Given the description of an element on the screen output the (x, y) to click on. 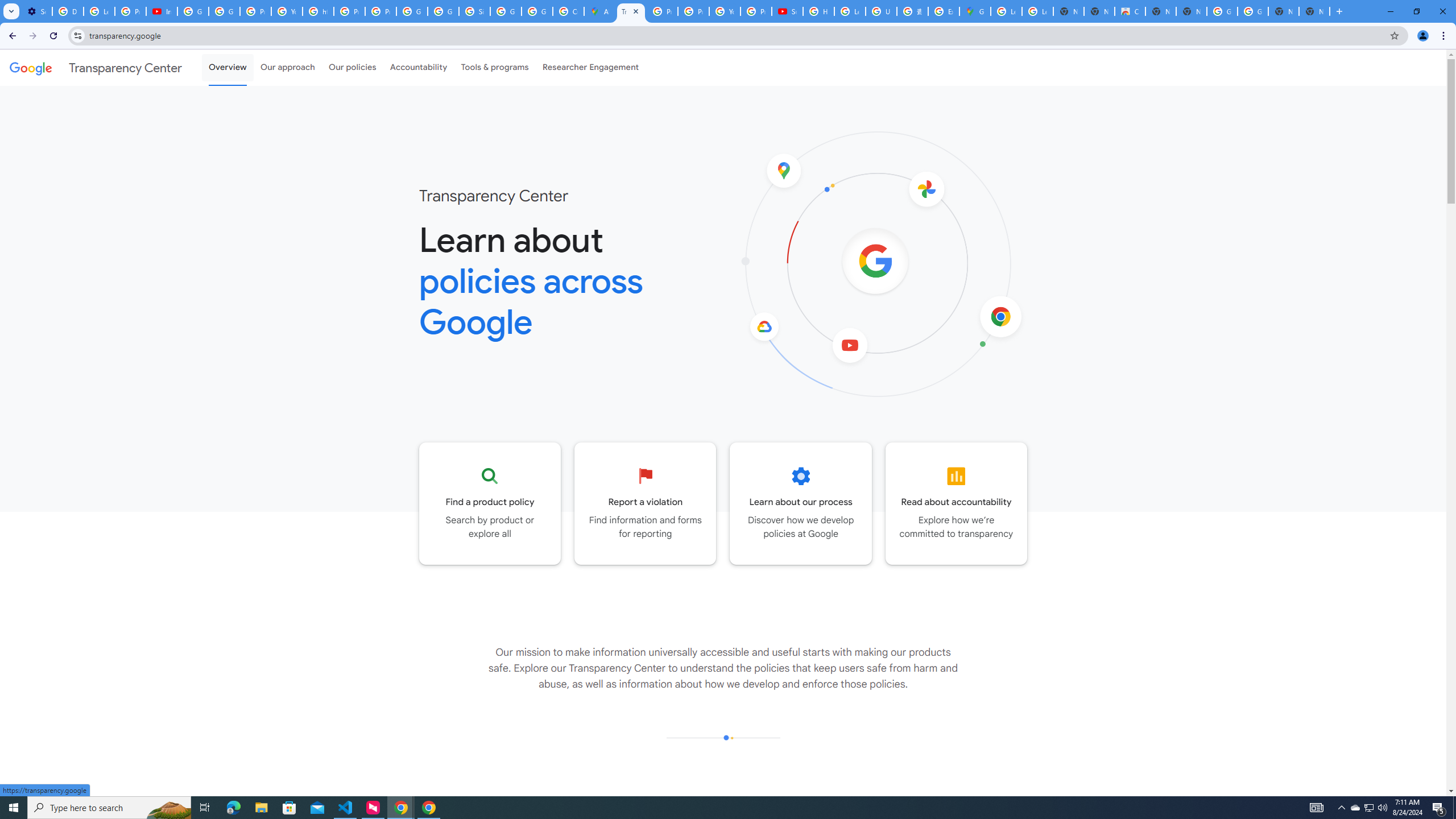
Our approach (287, 67)
Settings - Performance (36, 11)
Go to the Product policy page (490, 503)
Accountability (418, 67)
Privacy Help Center - Policies Help (693, 11)
Google Images (1222, 11)
Transparency Center (95, 67)
